Given the description of an element on the screen output the (x, y) to click on. 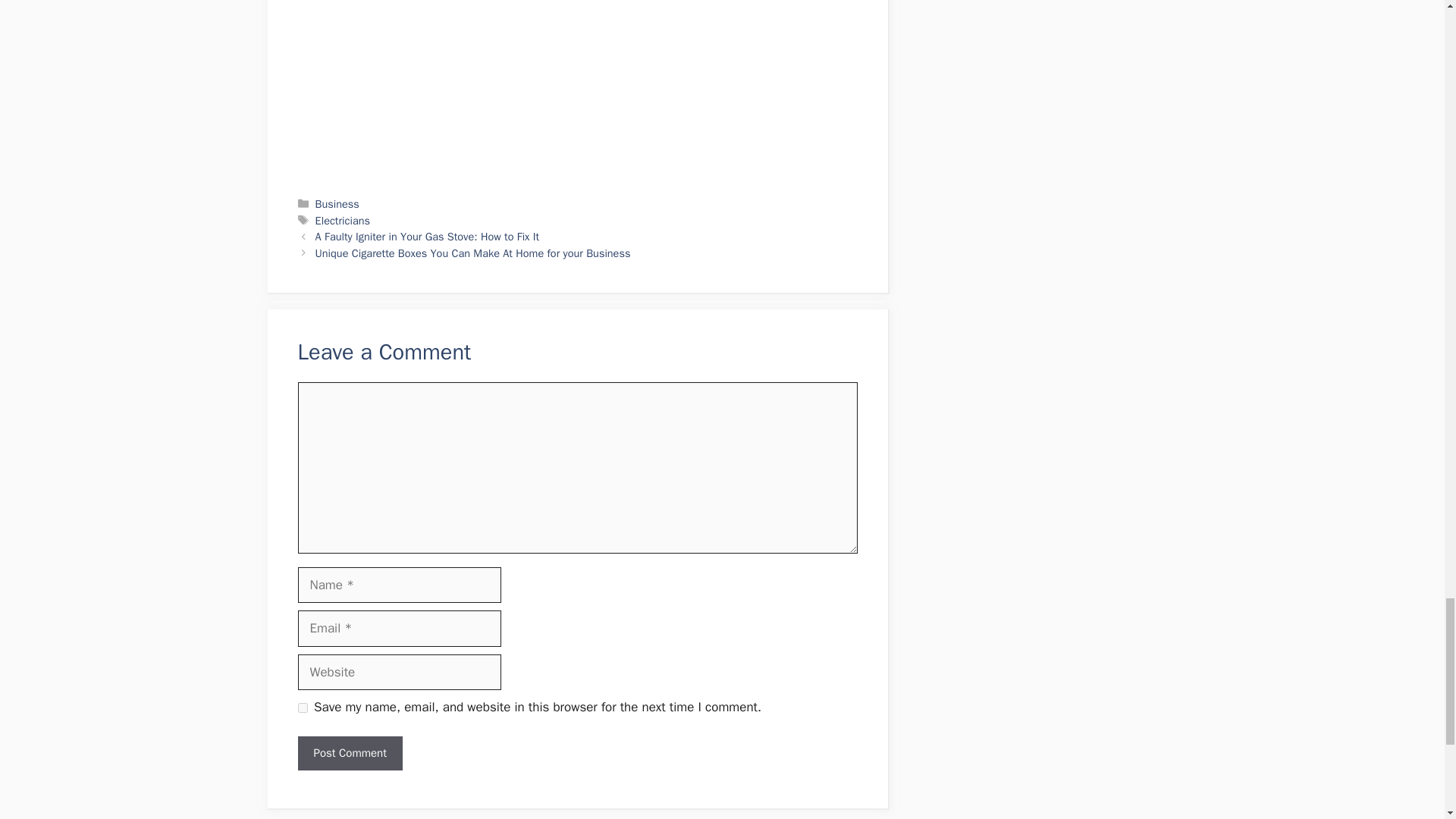
Post Comment (349, 753)
A Faulty Igniter in Your Gas Stove: How to Fix It (427, 236)
yes (302, 707)
Business (337, 203)
Electricians (342, 220)
Post Comment (349, 753)
